Given the description of an element on the screen output the (x, y) to click on. 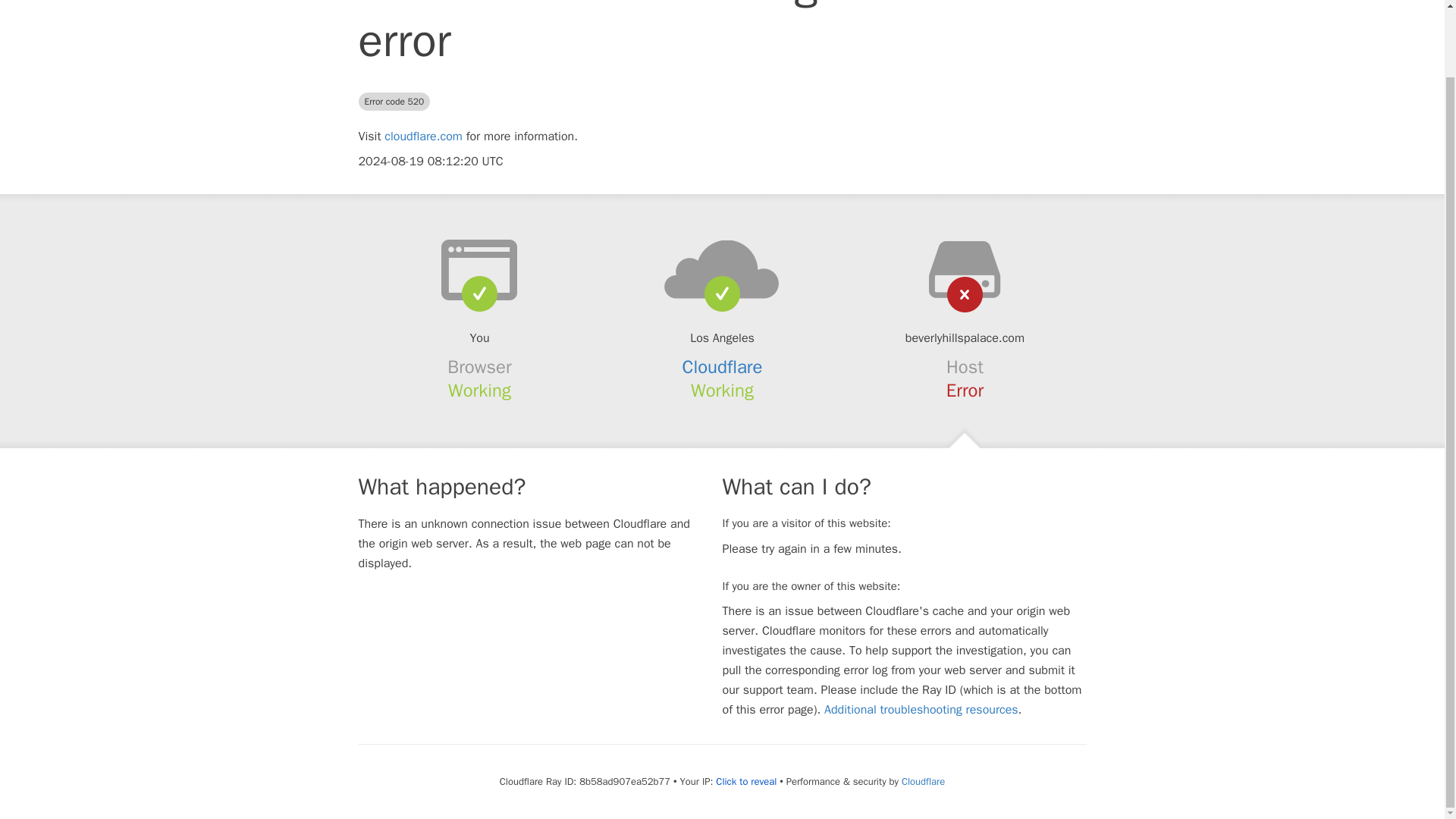
Cloudflare (922, 780)
Additional troubleshooting resources (920, 709)
Cloudflare (722, 366)
cloudflare.com (423, 136)
Click to reveal (746, 781)
